Given the description of an element on the screen output the (x, y) to click on. 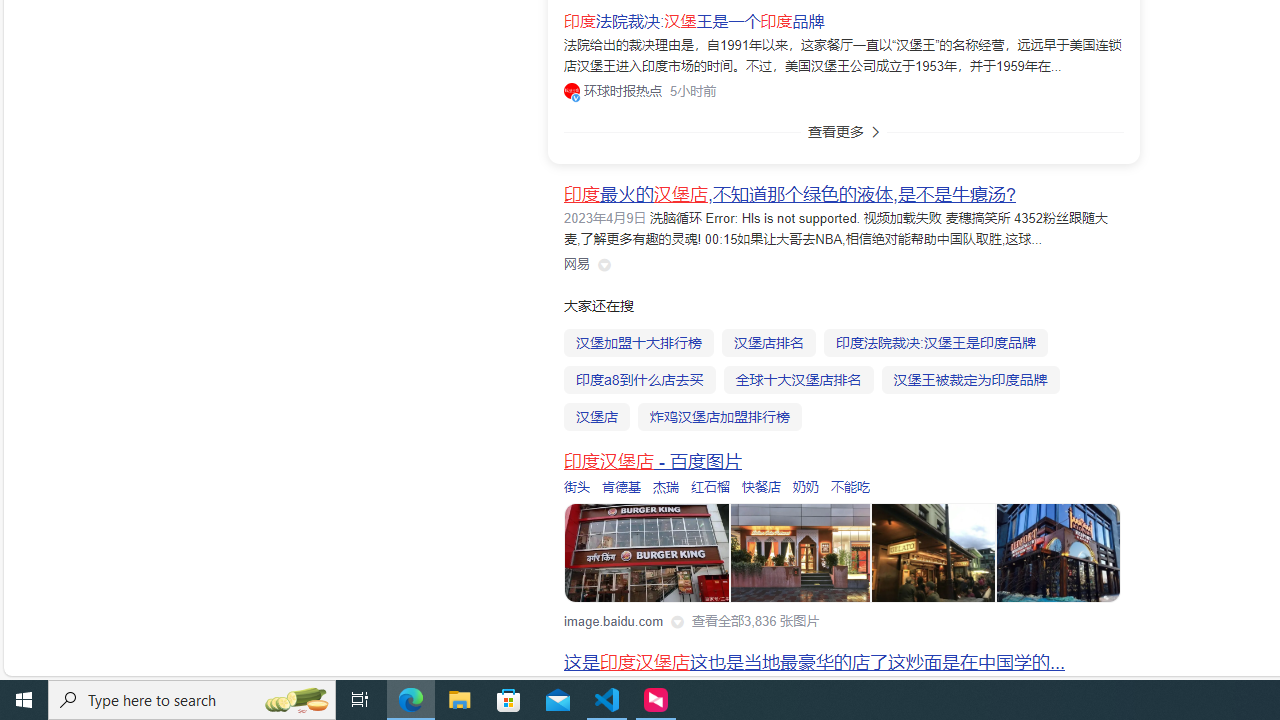
To get missing image descriptions, open the context menu. (648, 553)
